Given the description of an element on the screen output the (x, y) to click on. 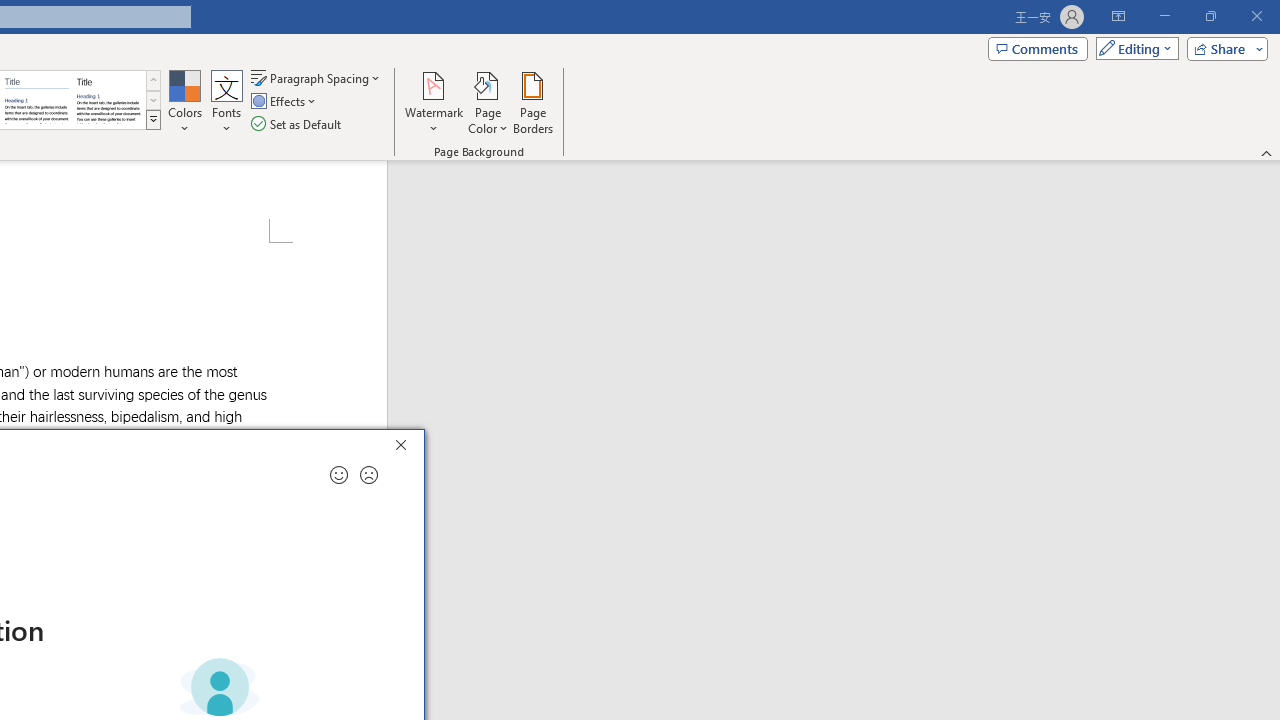
Fonts (227, 102)
Word 2010 (36, 100)
Send a frown for feedback (369, 475)
Colors (184, 102)
Style Set (153, 120)
Paragraph Spacing (317, 78)
Word 2013 (108, 100)
Page Color (487, 102)
Set as Default (298, 124)
Page Borders... (532, 102)
Watermark (434, 102)
